Given the description of an element on the screen output the (x, y) to click on. 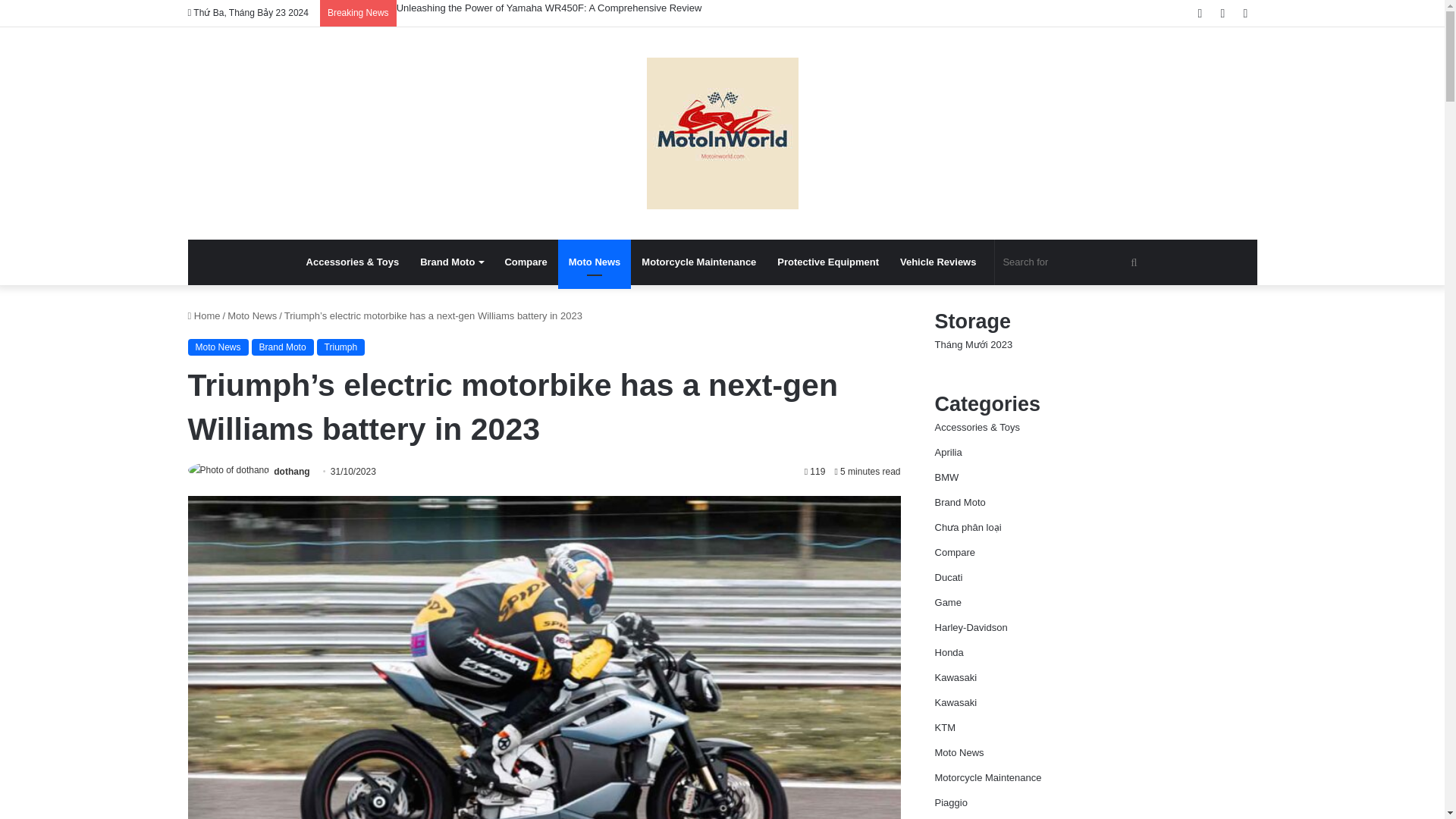
dothang (290, 471)
Home (204, 315)
Brand Moto (282, 347)
Triumph (341, 347)
Moto News (594, 262)
Search for (1071, 262)
Protective Equipment (828, 262)
Moto News (217, 347)
dothang (290, 471)
Motorcycle Maintenance (698, 262)
Vehicle Reviews (938, 262)
Compare (525, 262)
Brand Moto (451, 262)
moto in world (721, 133)
